Given the description of an element on the screen output the (x, y) to click on. 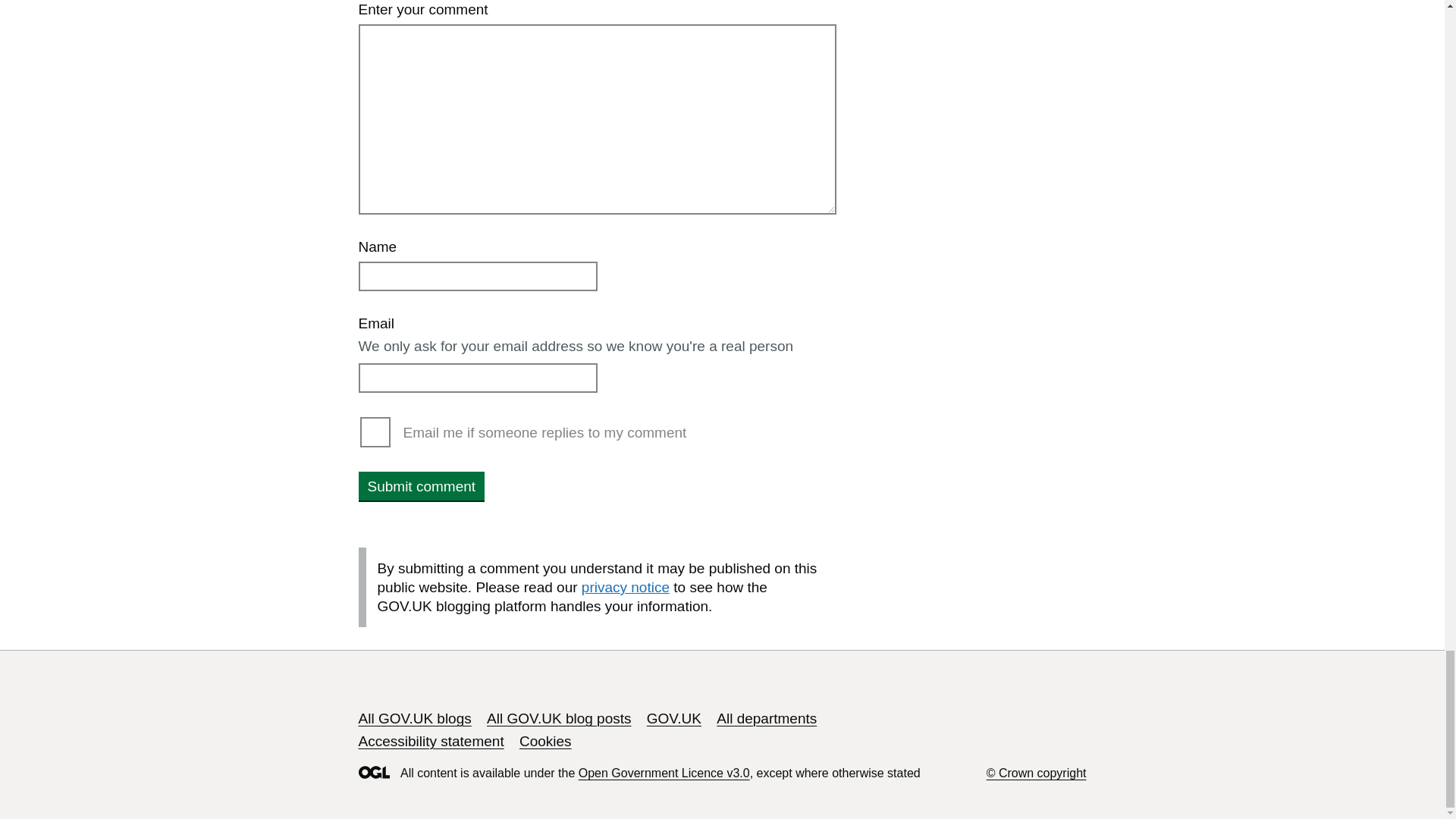
All GOV.UK blogs (414, 718)
Open Government Licence v3.0 (663, 772)
Cookies (545, 741)
All departments (766, 718)
Submit comment (421, 485)
Accessibility statement (430, 741)
GOV.UK (673, 718)
privacy notice (624, 587)
All GOV.UK blog posts (558, 718)
